Given the description of an element on the screen output the (x, y) to click on. 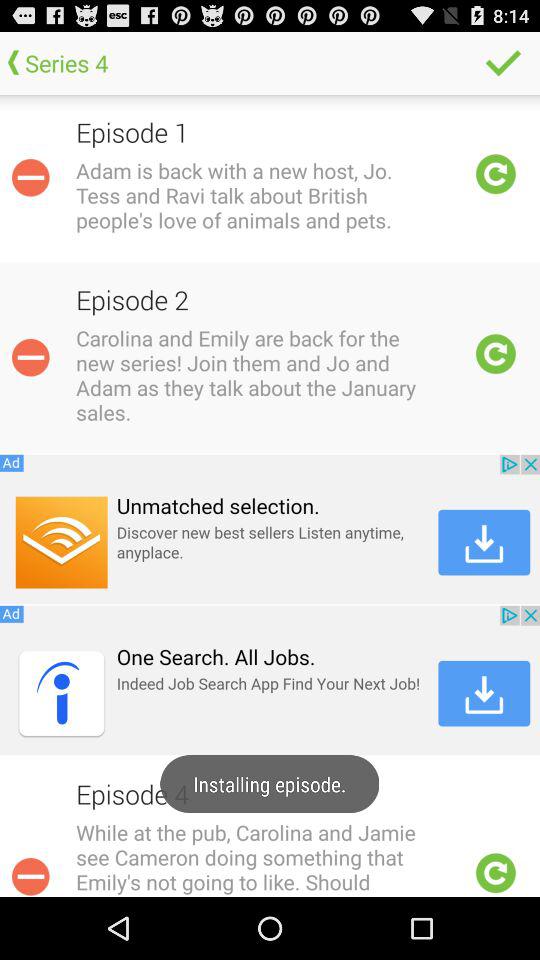
minimize of the option (30, 874)
